Given the description of an element on the screen output the (x, y) to click on. 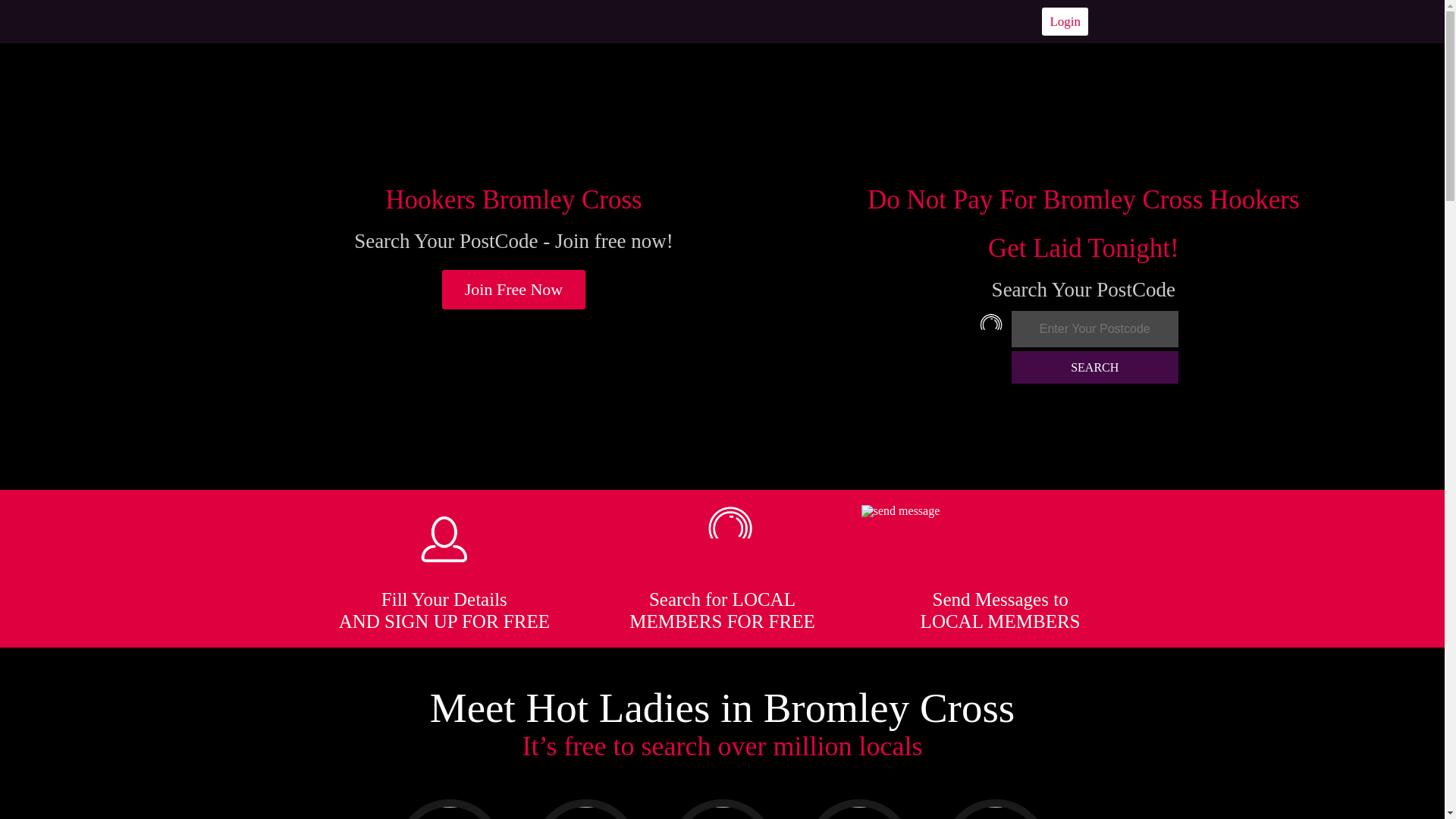
Login (1064, 21)
SEARCH (1094, 367)
Join Free Now (514, 289)
Join (514, 289)
Login (1064, 21)
